Given the description of an element on the screen output the (x, y) to click on. 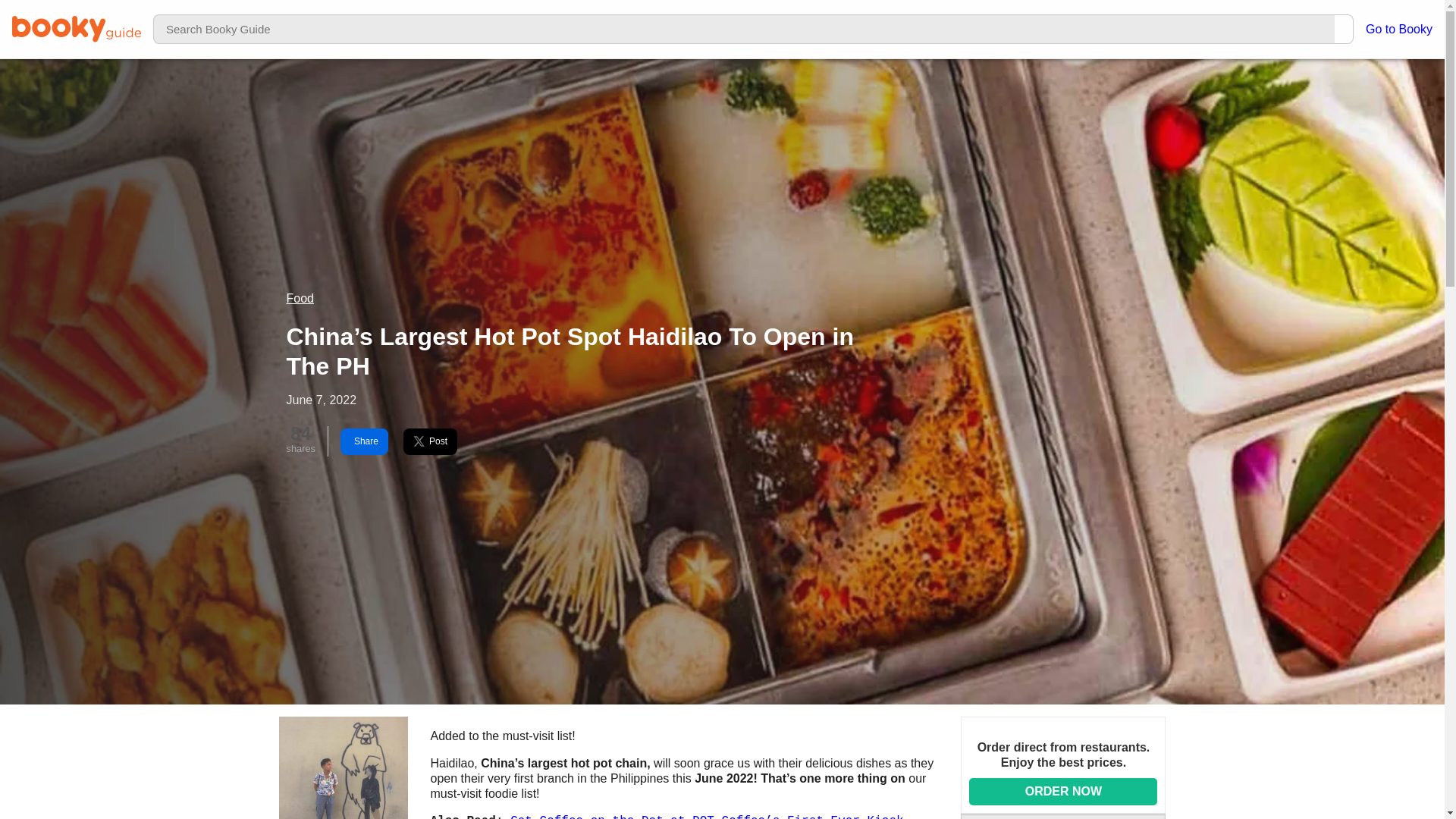
Food (300, 297)
Share (364, 441)
Go to Booky (1398, 28)
ORDER NOW (1063, 791)
Post (430, 441)
